Given the description of an element on the screen output the (x, y) to click on. 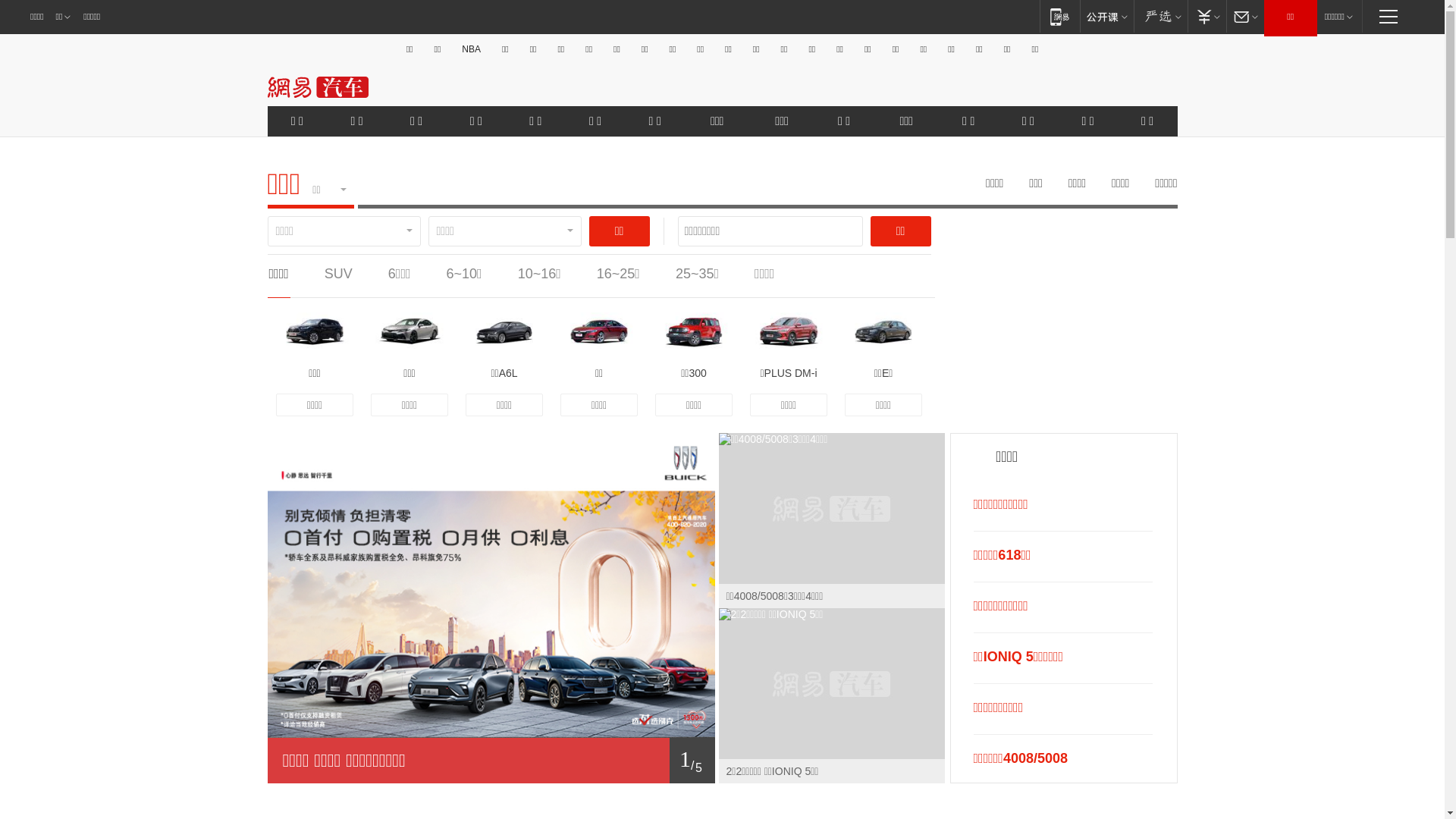
NBA Element type: text (471, 48)
SUV Element type: text (338, 273)
1/ 5 Element type: text (490, 760)
